Given the description of an element on the screen output the (x, y) to click on. 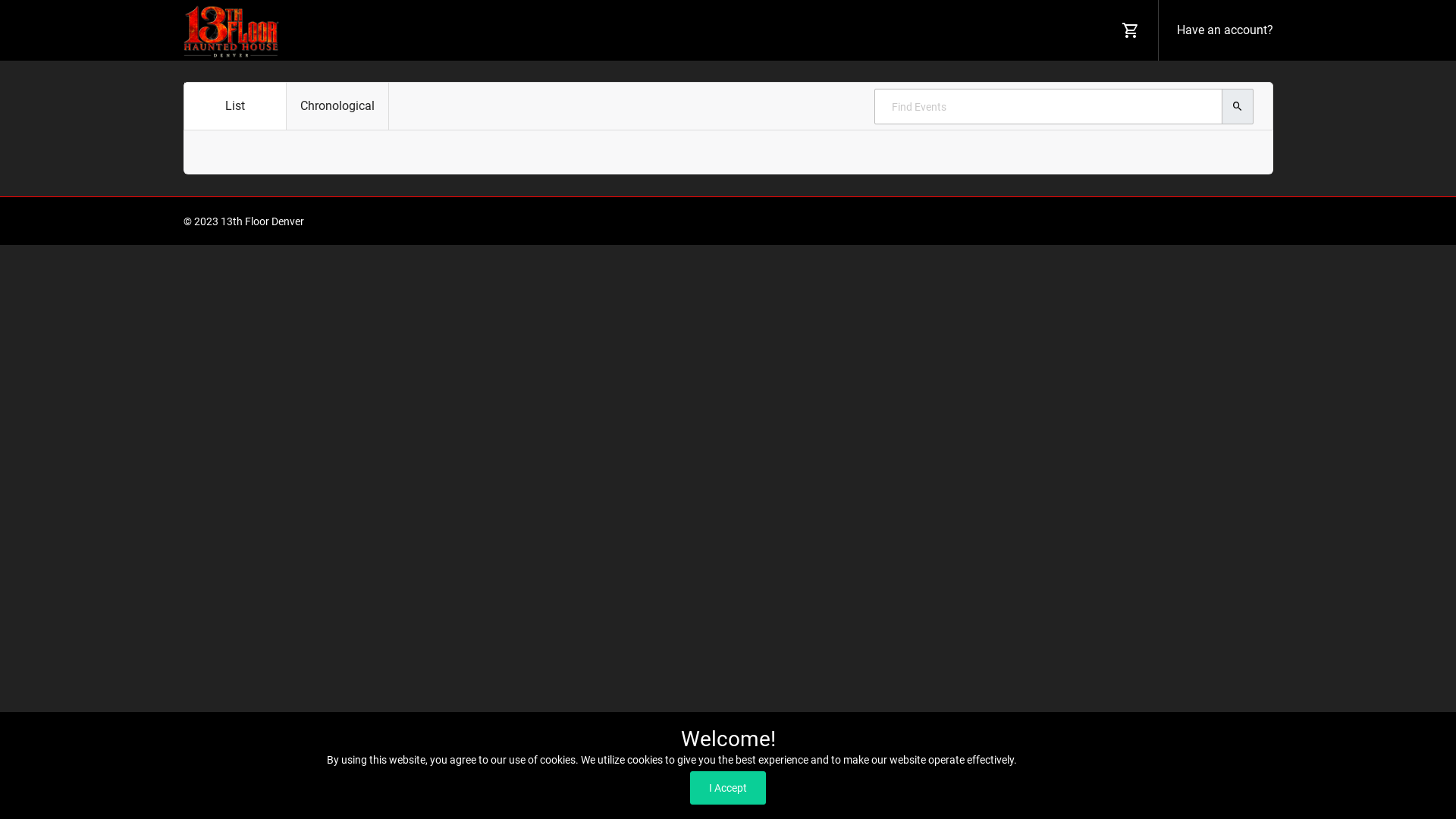
List Element type: text (234, 105)
Refunds Element type: text (1252, 221)
Chronological Element type: text (337, 105)
I Accept Element type: text (727, 787)
Privacy & Security Element type: text (1182, 221)
Terms & Conditions Element type: text (1085, 221)
Read our Privacy Policy Element type: text (1074, 759)
Have an account? Element type: text (1221, 30)
Home Element type: text (1016, 221)
